Given the description of an element on the screen output the (x, y) to click on. 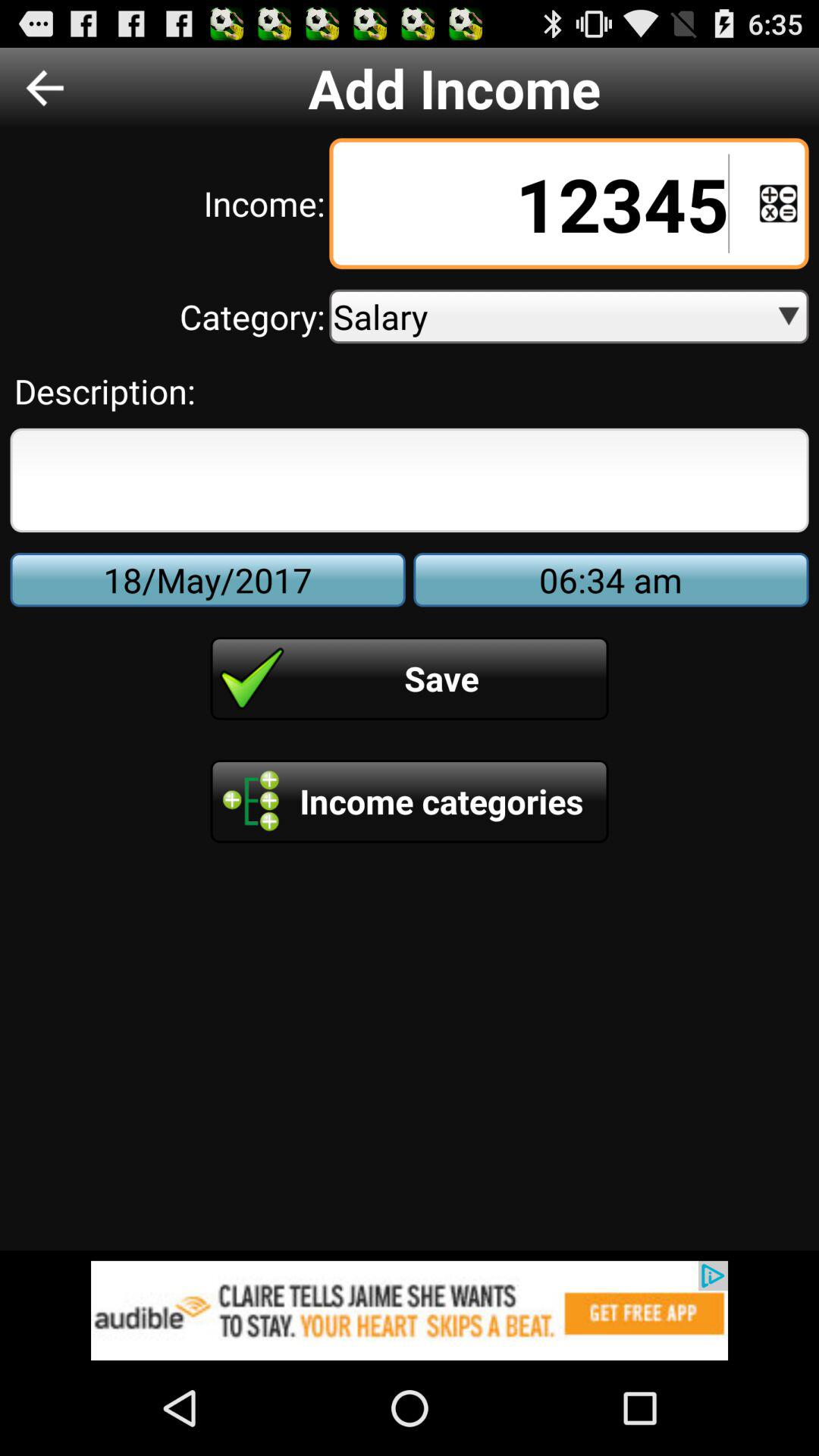
toggle autoplay option (778, 203)
